Given the description of an element on the screen output the (x, y) to click on. 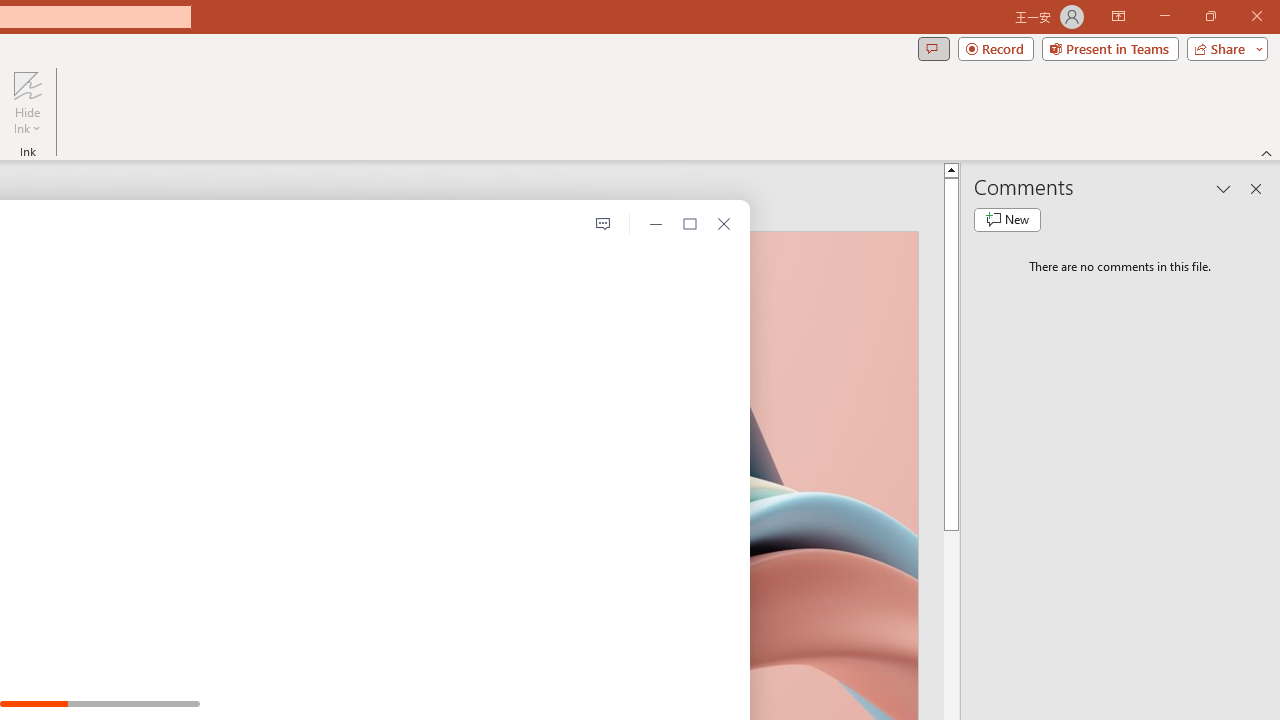
New comment (1007, 219)
